Given the description of an element on the screen output the (x, y) to click on. 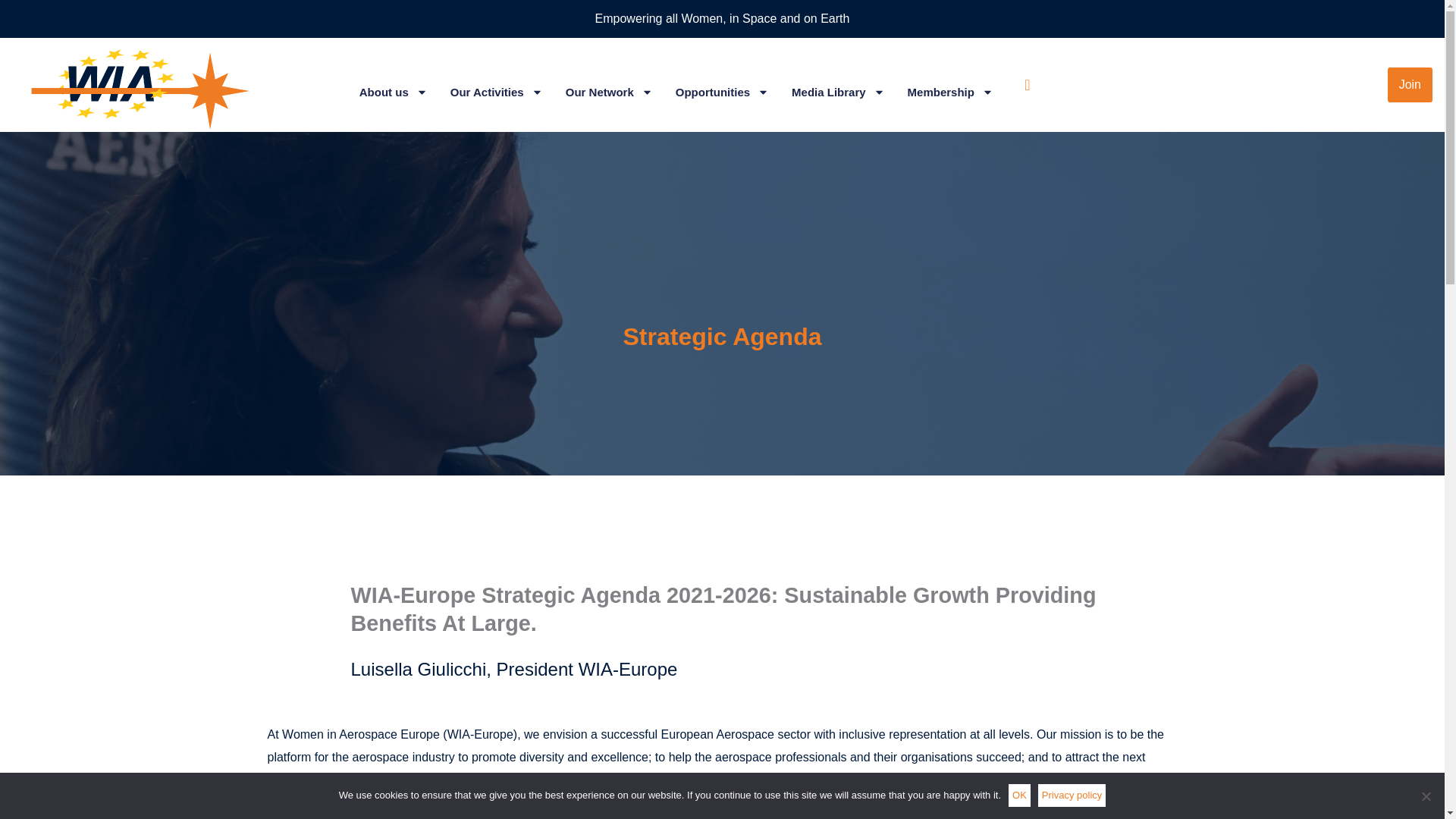
Media Library (838, 92)
Membership (949, 92)
No (1425, 795)
Opportunities (721, 92)
Empowering all Women, in Space and on Earth (722, 18)
Our Network (609, 92)
Our Activities (496, 92)
Join (1246, 84)
About us (393, 92)
Strategic Agenda (722, 336)
